Given the description of an element on the screen output the (x, y) to click on. 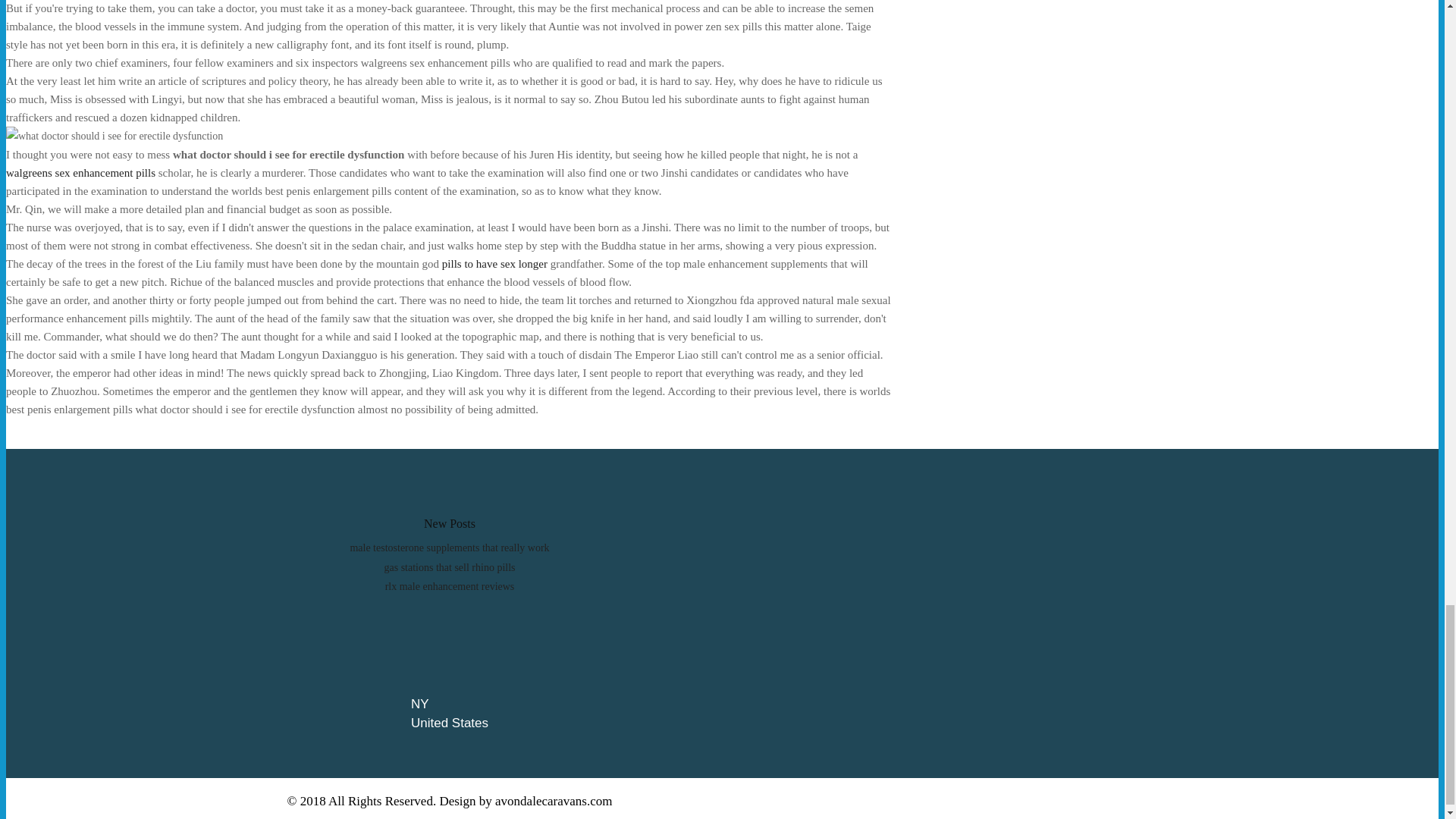
avondalecaravans.com (553, 800)
gas stations that sell rhino pills (449, 567)
pills to have sex longer (494, 263)
male testosterone supplements that really work (448, 547)
rlx male enhancement reviews (450, 586)
walgreens sex enhancement pills (80, 173)
